Given the description of an element on the screen output the (x, y) to click on. 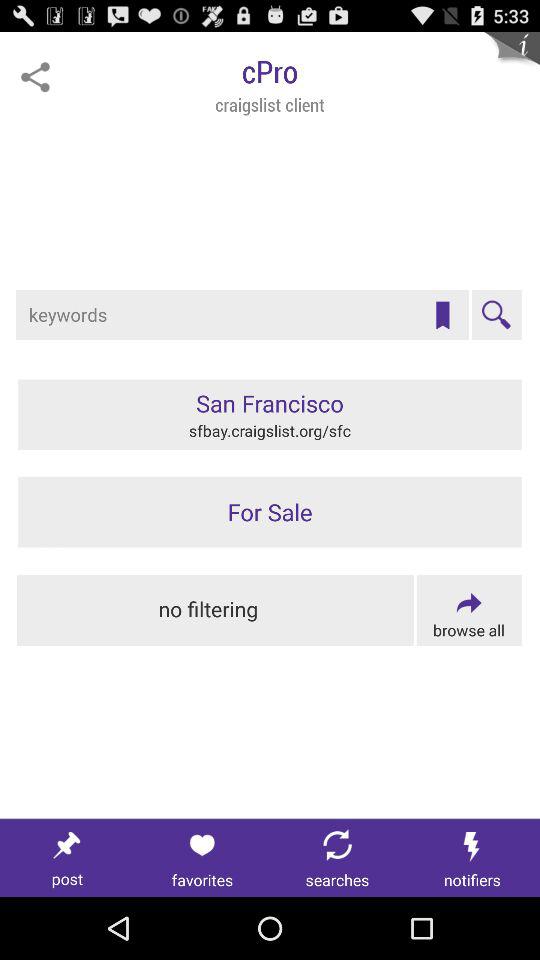
show information (511, 59)
